Given the description of an element on the screen output the (x, y) to click on. 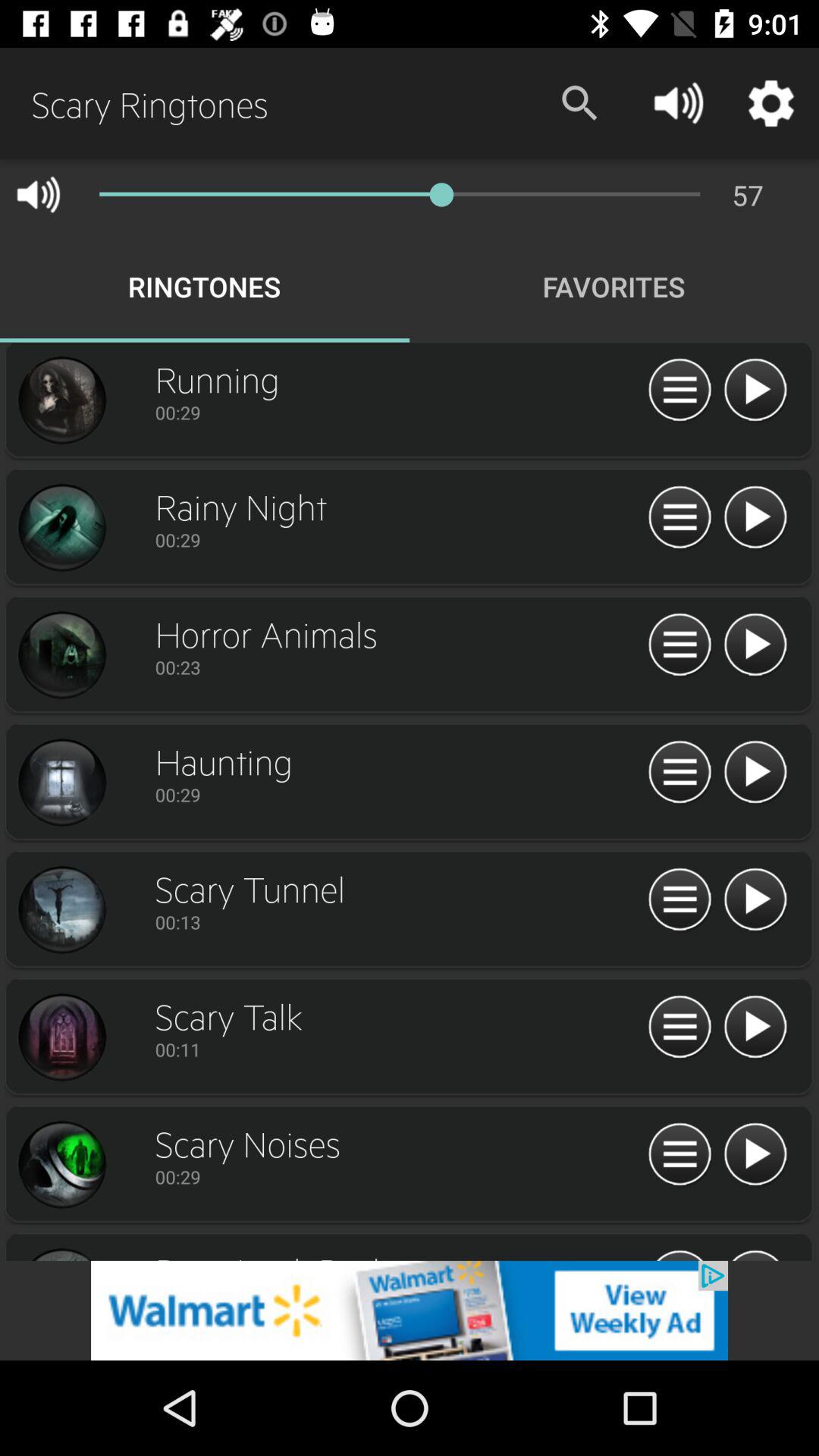
play the music (755, 517)
